Given the description of an element on the screen output the (x, y) to click on. 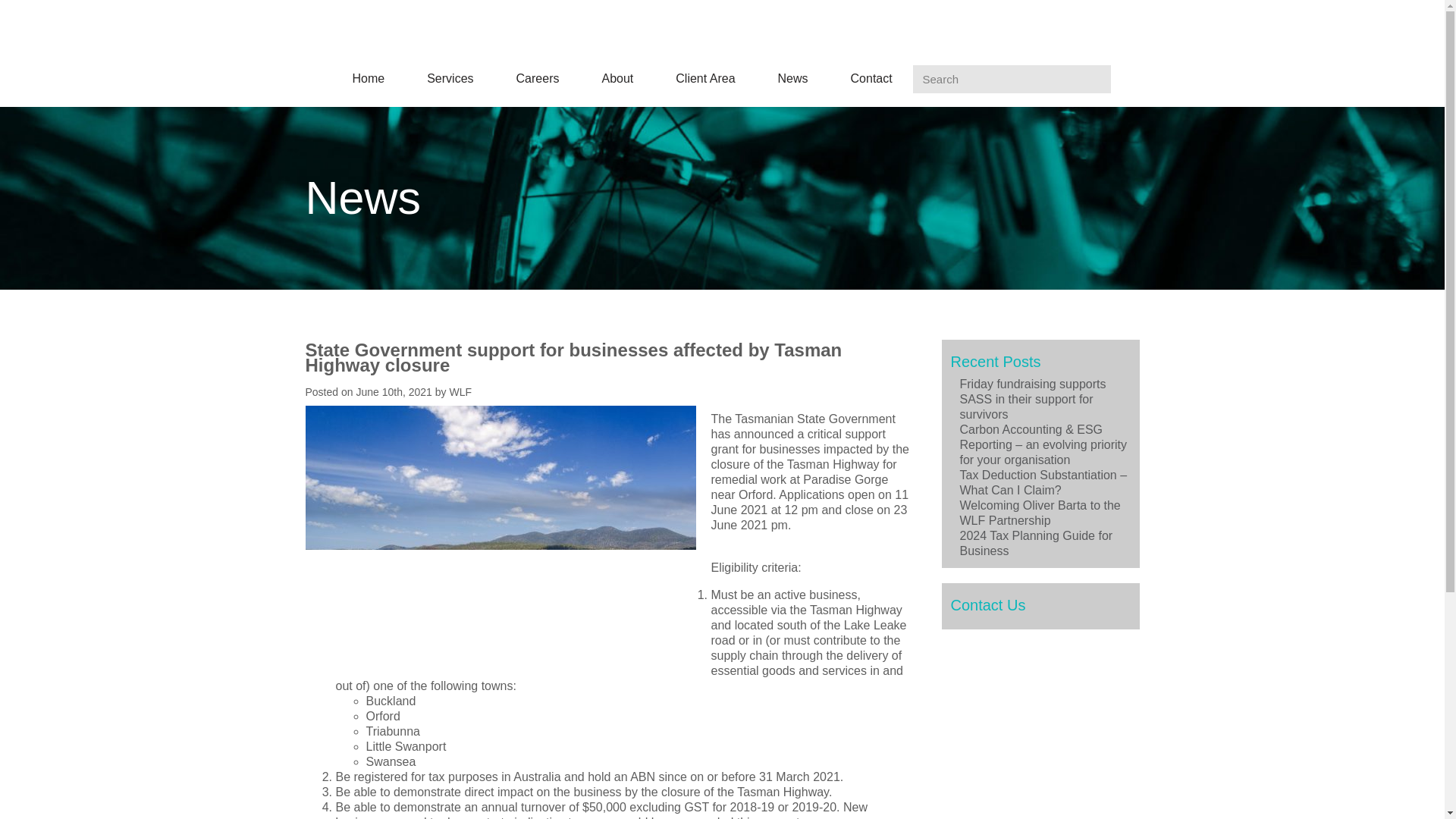
Services (449, 78)
Home (368, 78)
link (1182, 77)
News (792, 78)
Client Area (705, 78)
About (617, 78)
Careers (537, 78)
link (1210, 77)
link (1126, 77)
Contact (871, 78)
link (1153, 77)
Search (1011, 79)
